Given the description of an element on the screen output the (x, y) to click on. 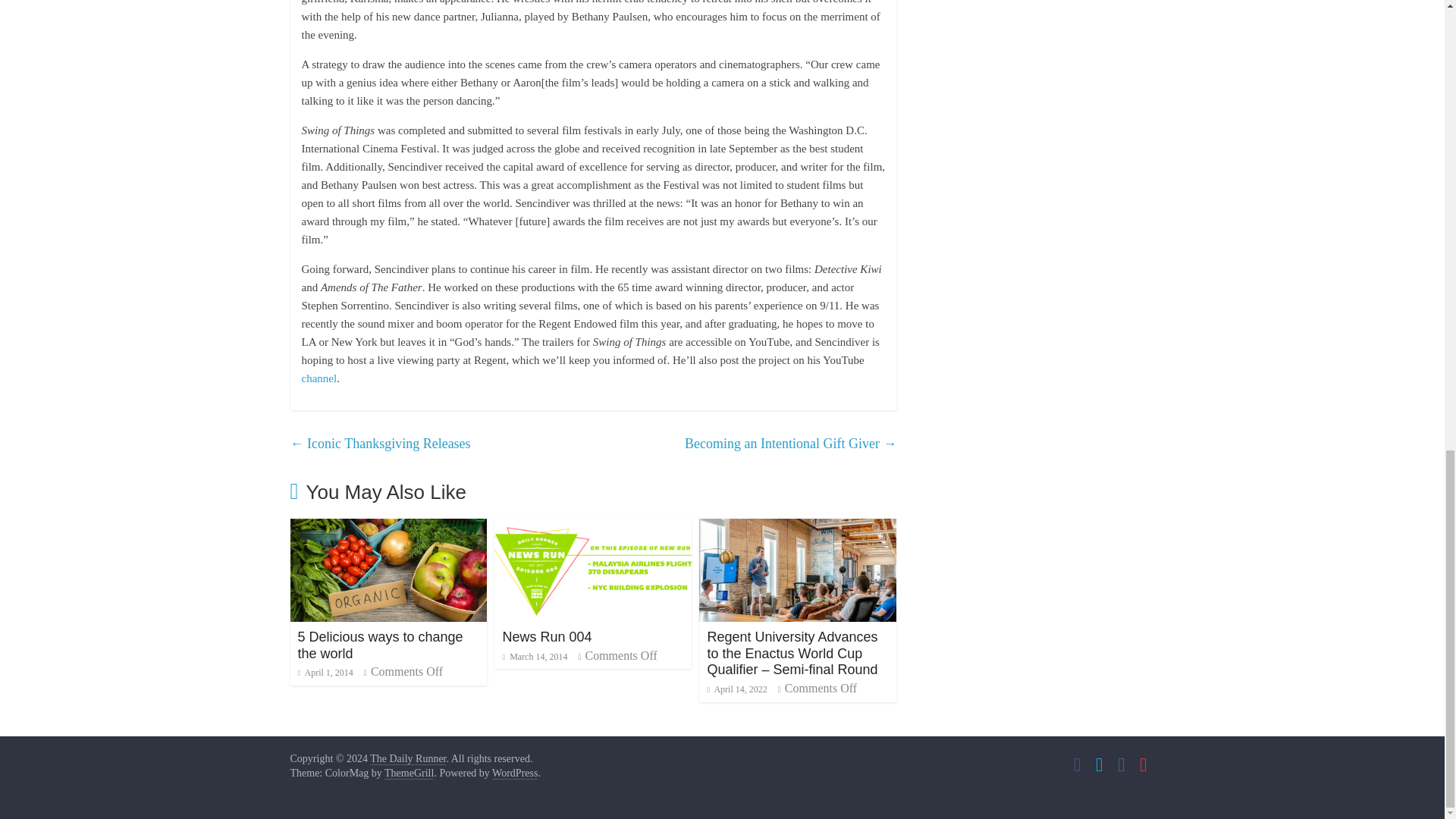
5 Delicious ways to change the world (380, 644)
5 Delicious ways to change the world (387, 527)
April 1, 2014 (324, 672)
11:04 am (534, 656)
5:10 pm (324, 672)
News Run 004 (546, 636)
News Run 004 (593, 527)
News Run 004 (546, 636)
April 14, 2022 (736, 688)
March 14, 2014 (534, 656)
